Given the description of an element on the screen output the (x, y) to click on. 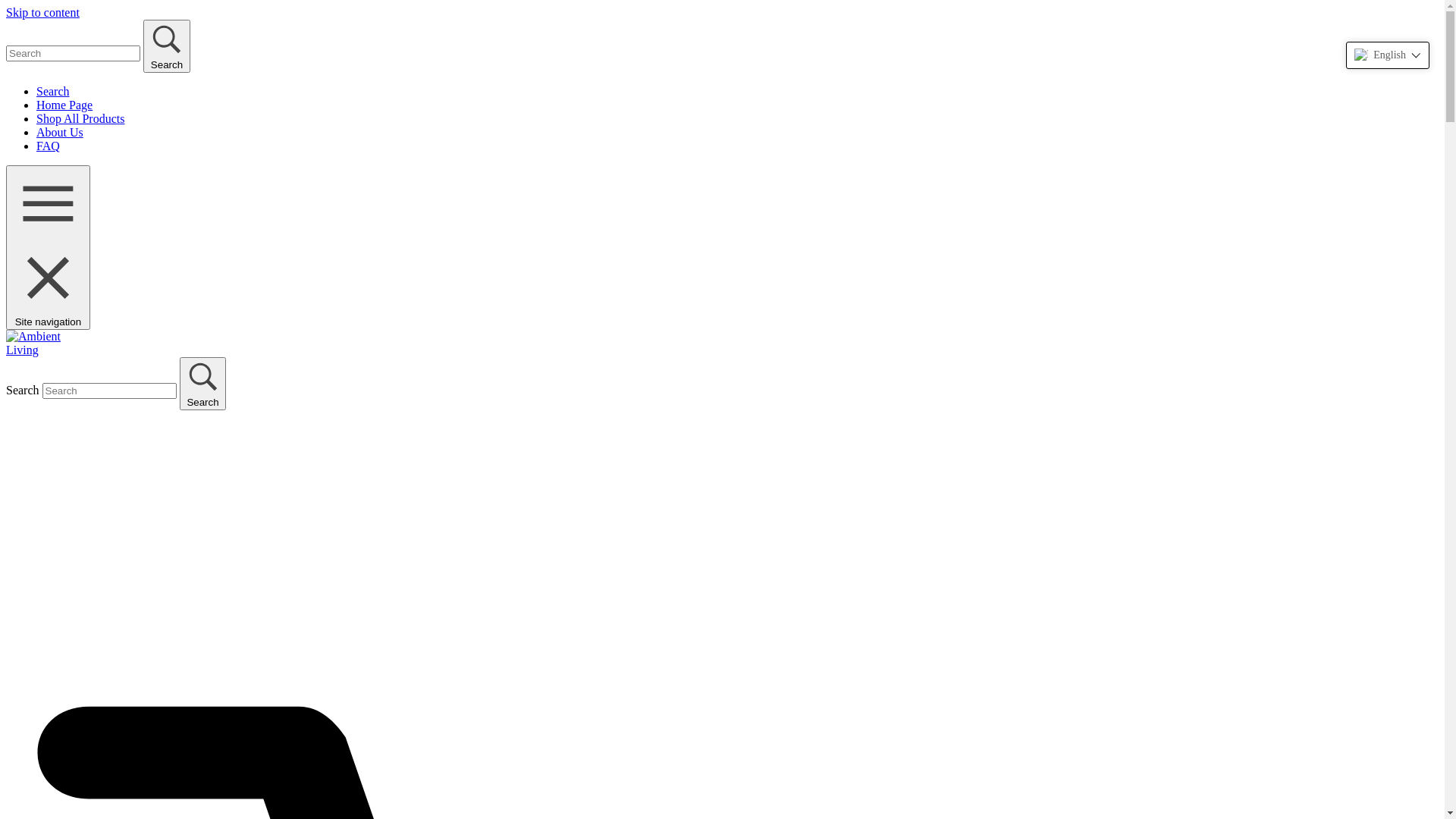
Search Element type: text (52, 90)
Search Element type: text (166, 45)
Home Page Element type: text (64, 104)
Search Element type: text (202, 383)
Skip to content Element type: text (42, 12)
Shop All Products Element type: text (80, 118)
Site navigation Element type: text (48, 247)
FAQ Element type: text (47, 145)
About Us Element type: text (59, 131)
